Given the description of an element on the screen output the (x, y) to click on. 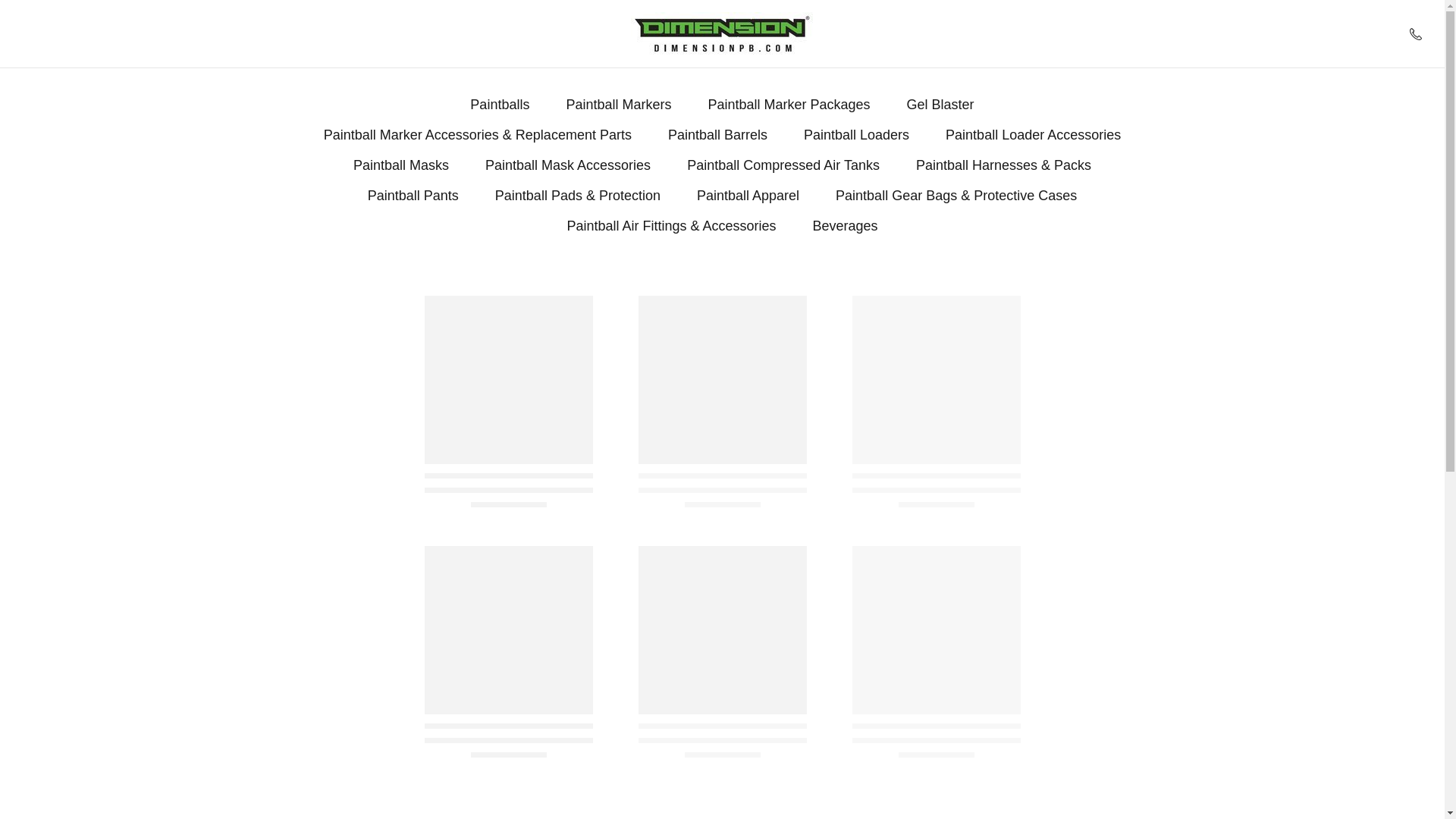
Paintball Loader Accessories (1032, 134)
Gel Blaster (940, 104)
Paintball Masks (400, 165)
Paintballs (499, 104)
Paintball Mask Accessories (567, 165)
Paintball Loaders (855, 134)
Paintball Markers (618, 104)
Paintball Barrels (717, 134)
Paintball Marker Packages (788, 104)
